Given the description of an element on the screen output the (x, y) to click on. 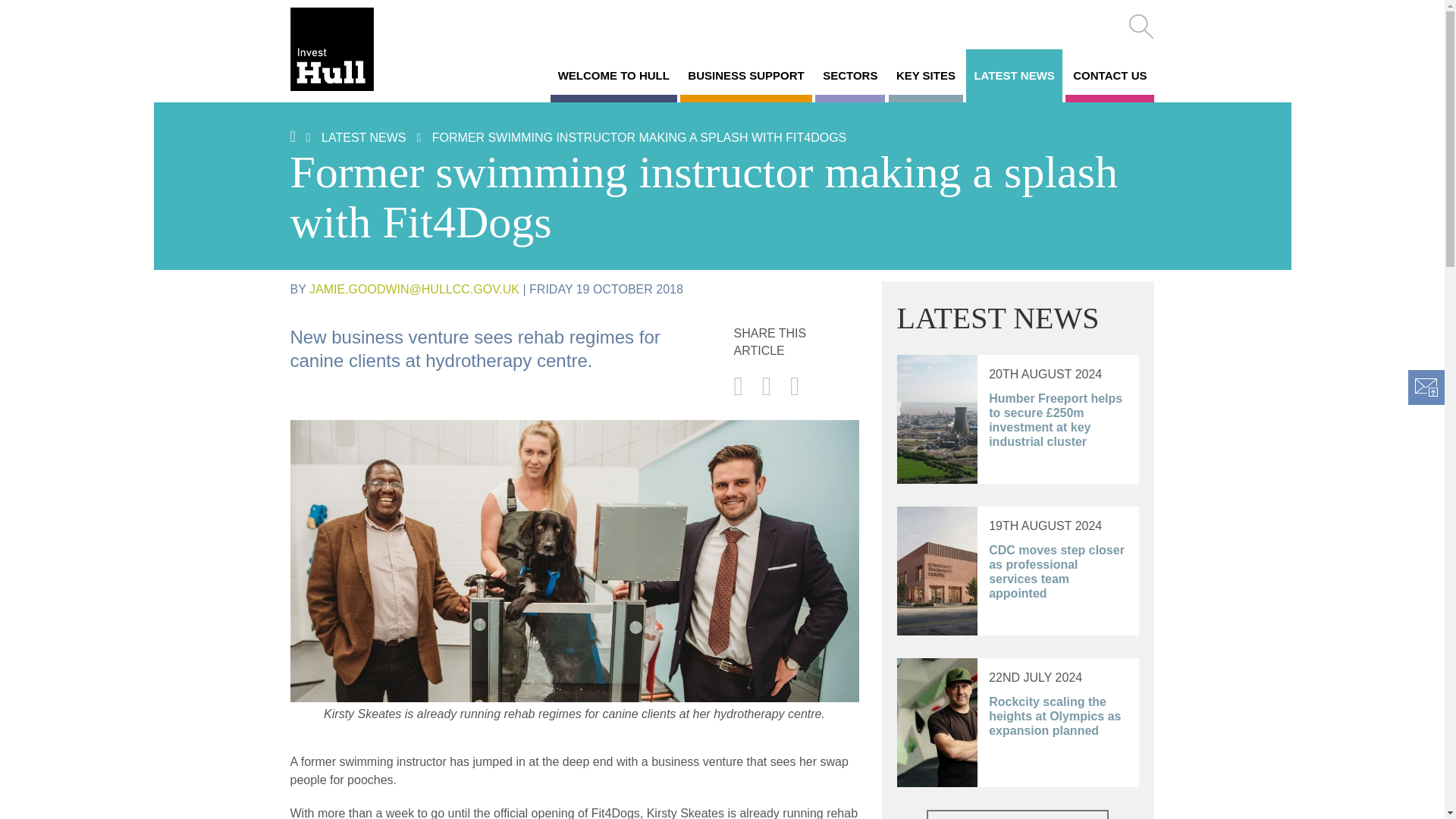
LATEST NEWS (363, 137)
Home (351, 48)
WELCOME TO HULL (613, 75)
CONTACT US (1109, 75)
SEE ALL NEWS (1017, 814)
SECTORS (850, 75)
BUSINESS SUPPORT (744, 75)
LATEST NEWS (1013, 75)
